Given the description of an element on the screen output the (x, y) to click on. 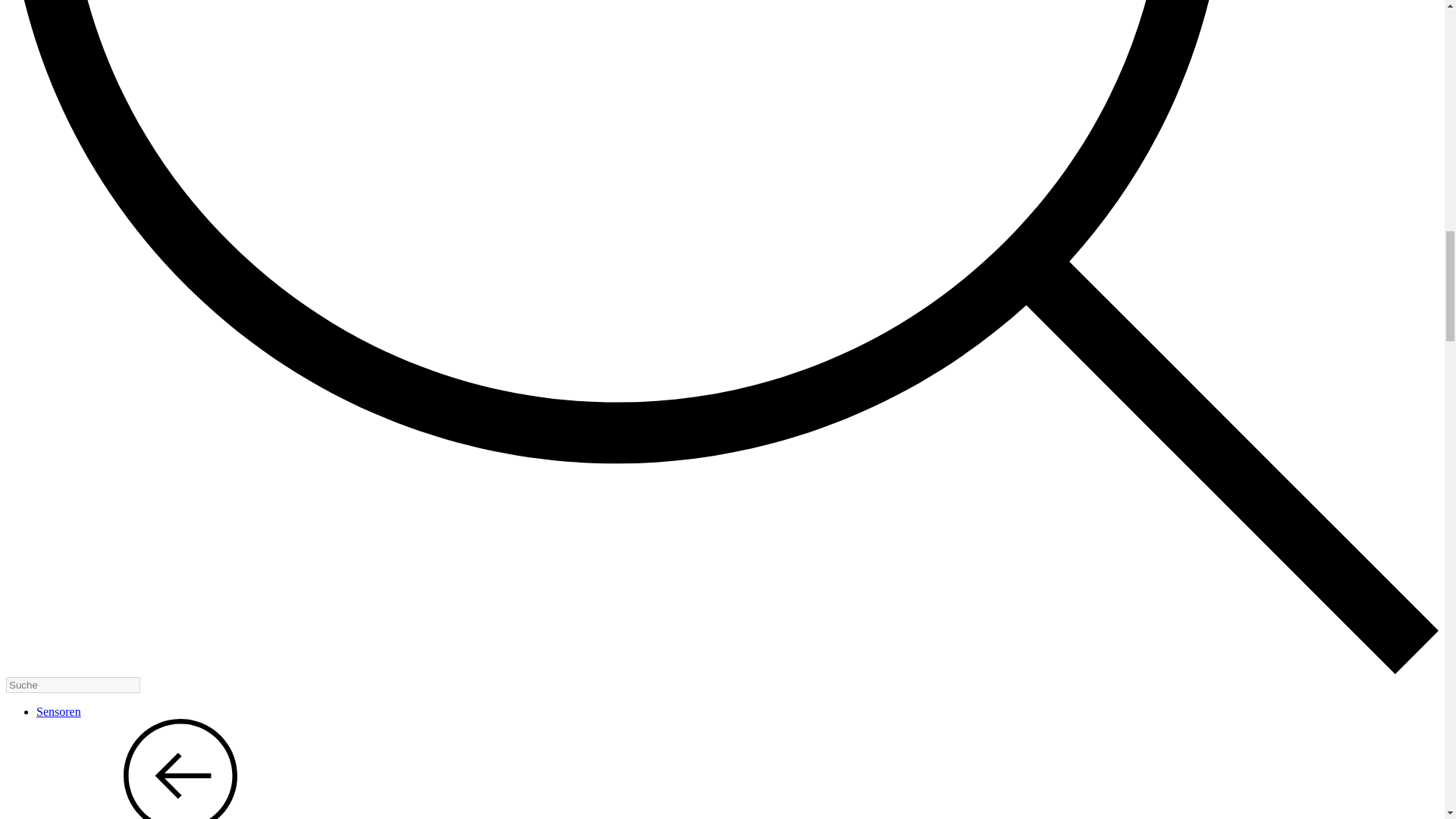
Sensoren (58, 711)
